Given the description of an element on the screen output the (x, y) to click on. 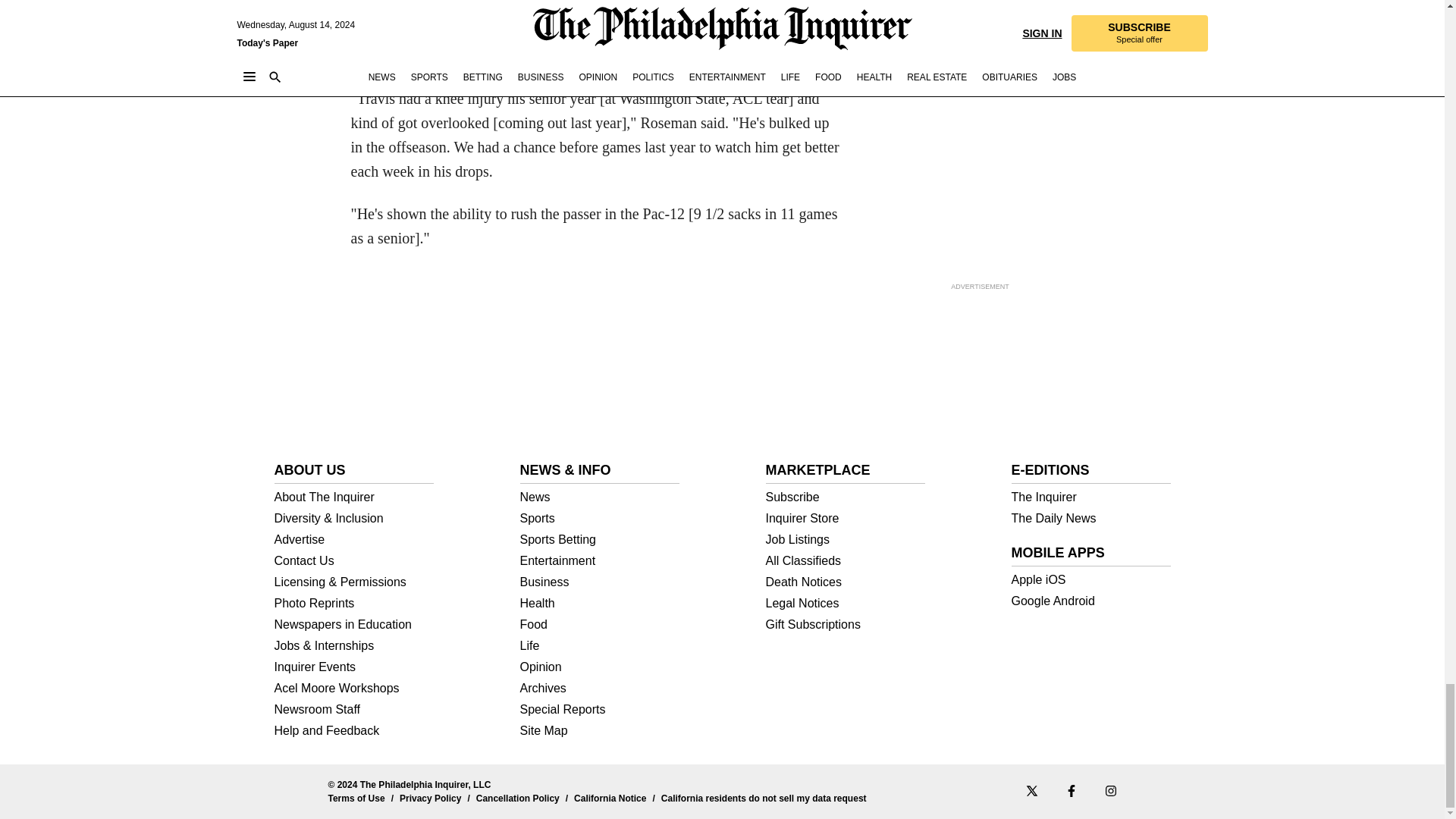
About The Inquirer (354, 497)
Contact Us (354, 561)
X (1030, 790)
Facebook (1070, 790)
Advertise (354, 539)
Instagram (1109, 790)
